Given the description of an element on the screen output the (x, y) to click on. 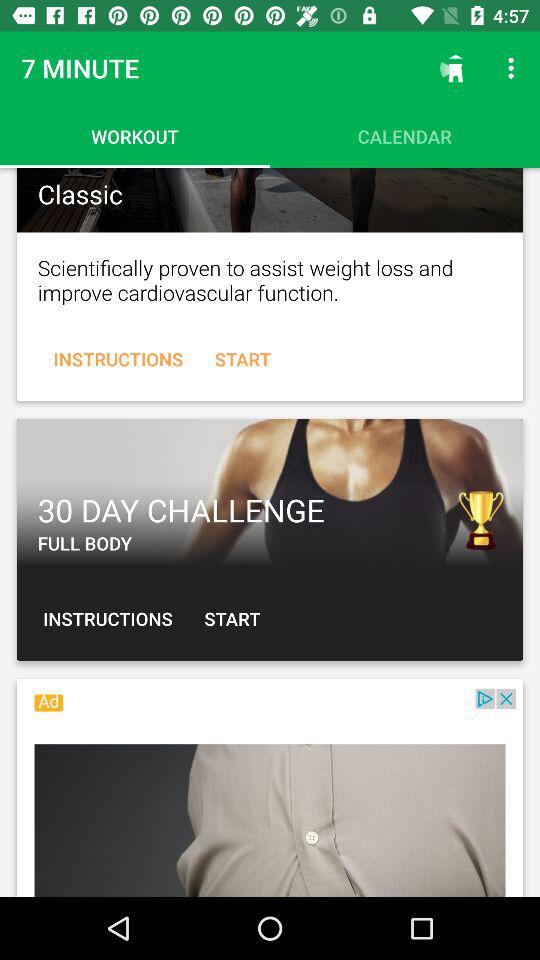
show the advertisement (270, 793)
